Given the description of an element on the screen output the (x, y) to click on. 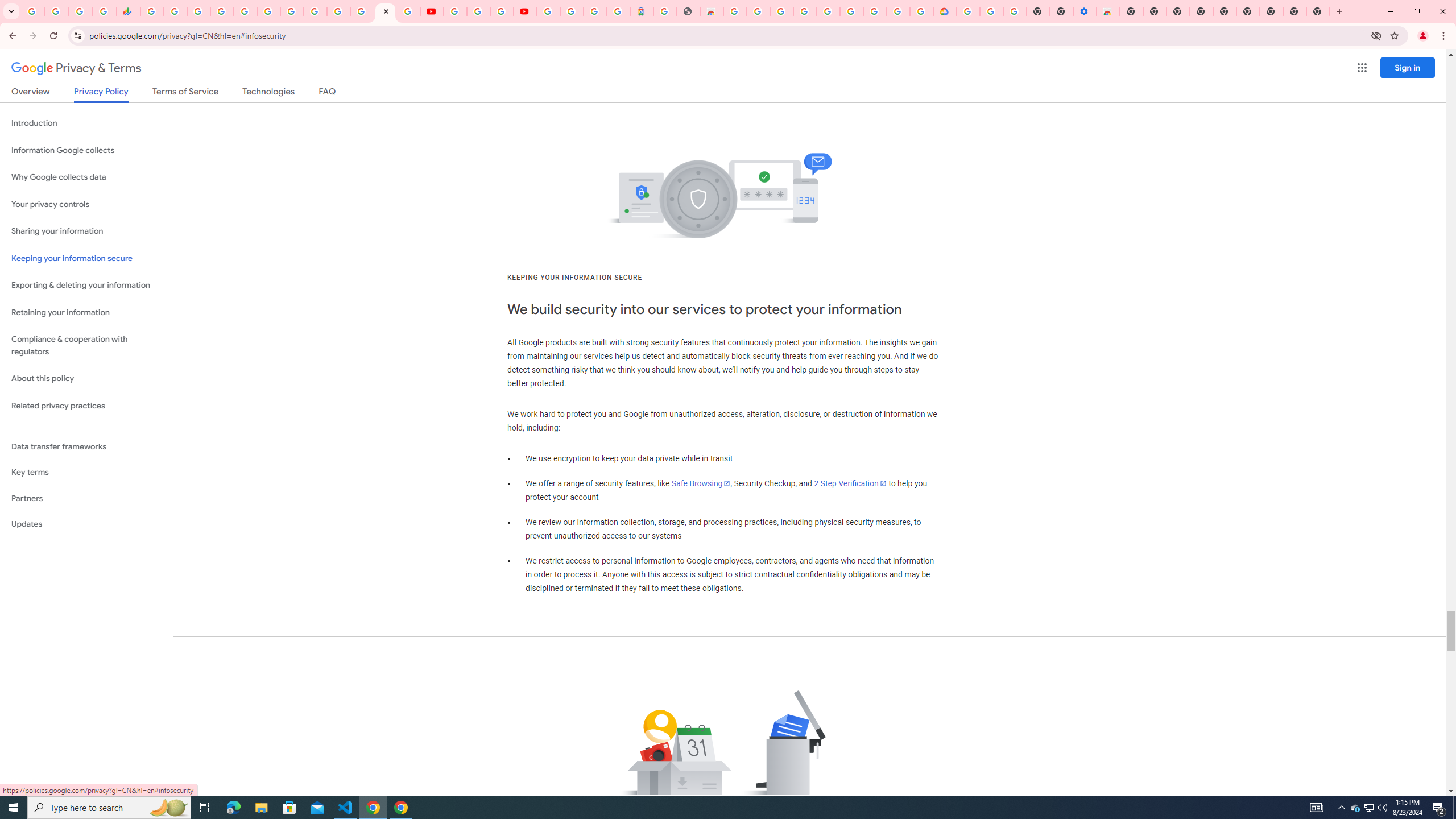
Browse the Google Chrome Community - Google Chrome Community (921, 11)
Sign in - Google Accounts (968, 11)
Create your Google Account (897, 11)
Create your Google Account (501, 11)
Related privacy practices (86, 405)
New Tab (1318, 11)
